Given the description of an element on the screen output the (x, y) to click on. 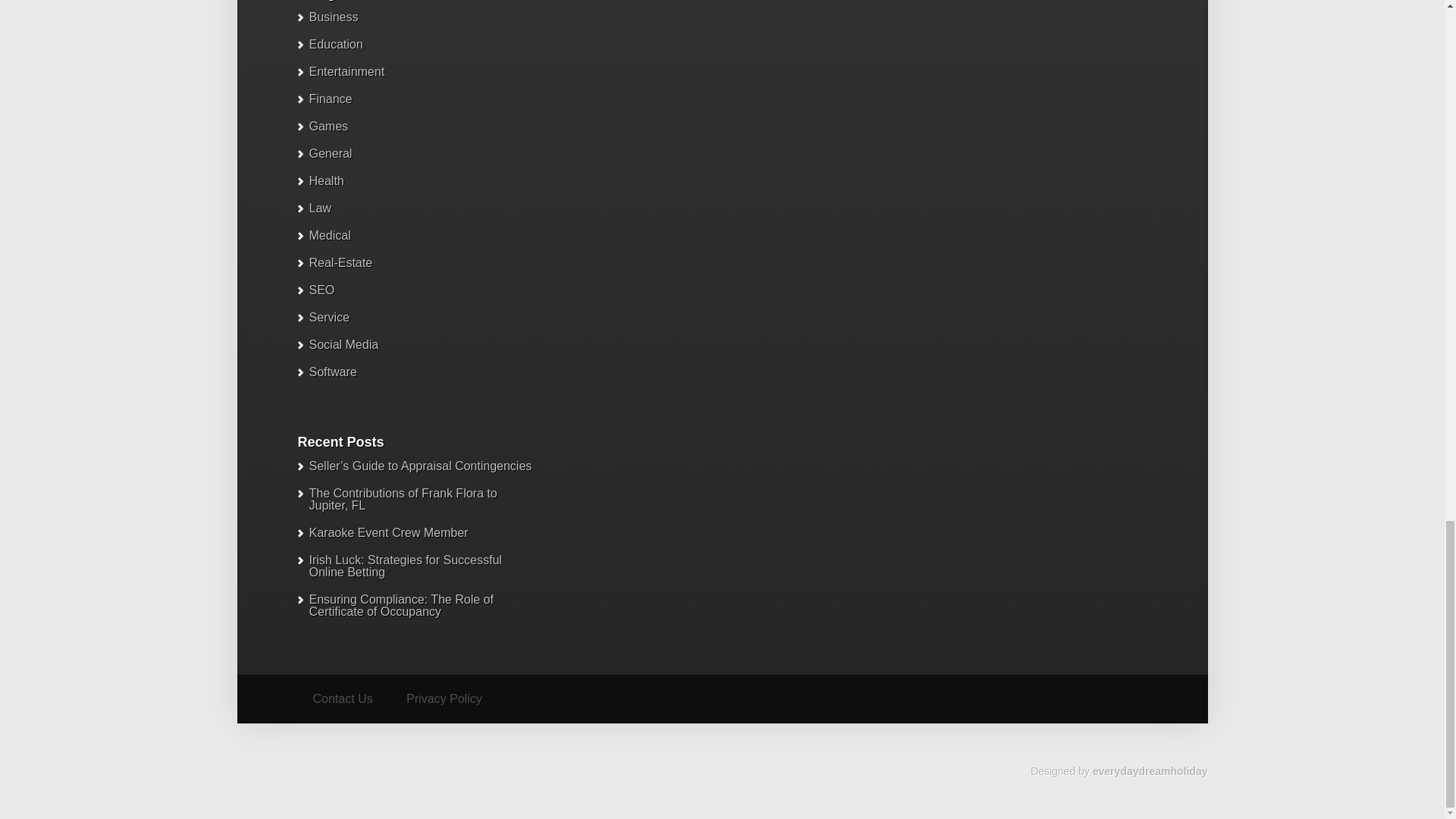
Real-Estate (340, 262)
Software (332, 371)
Business (333, 16)
Medical (329, 235)
Social Media (343, 344)
Service (342, 698)
Law (328, 317)
The Contributions of Frank Flora to Jupiter, FL (319, 207)
Health (402, 498)
Irish Luck: Strategies for Successful Online Betting (325, 180)
Education (405, 565)
Premium WordPress Themes (335, 43)
Games (1150, 770)
General (328, 125)
